Given the description of an element on the screen output the (x, y) to click on. 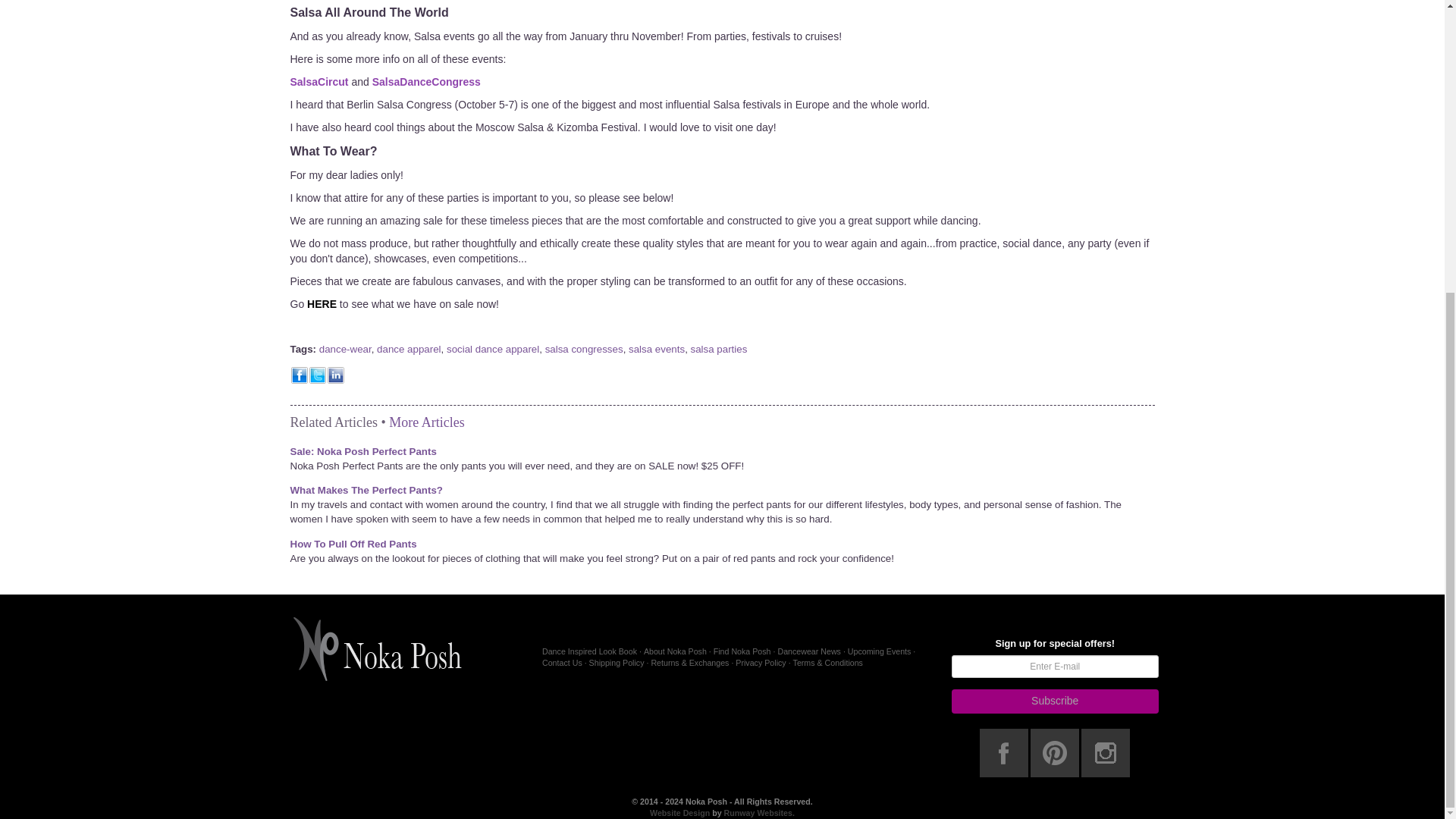
HERE (321, 304)
Sale: Noka Posh Perfect Pants (362, 451)
salsa congresses (583, 348)
social dance apparel (492, 348)
dance-wear (344, 348)
How To Pull Off Red Pants (352, 543)
dance apparel (409, 348)
SalsaCircut (318, 81)
SalsaDanceCongress (426, 81)
salsa events (656, 348)
